Given the description of an element on the screen output the (x, y) to click on. 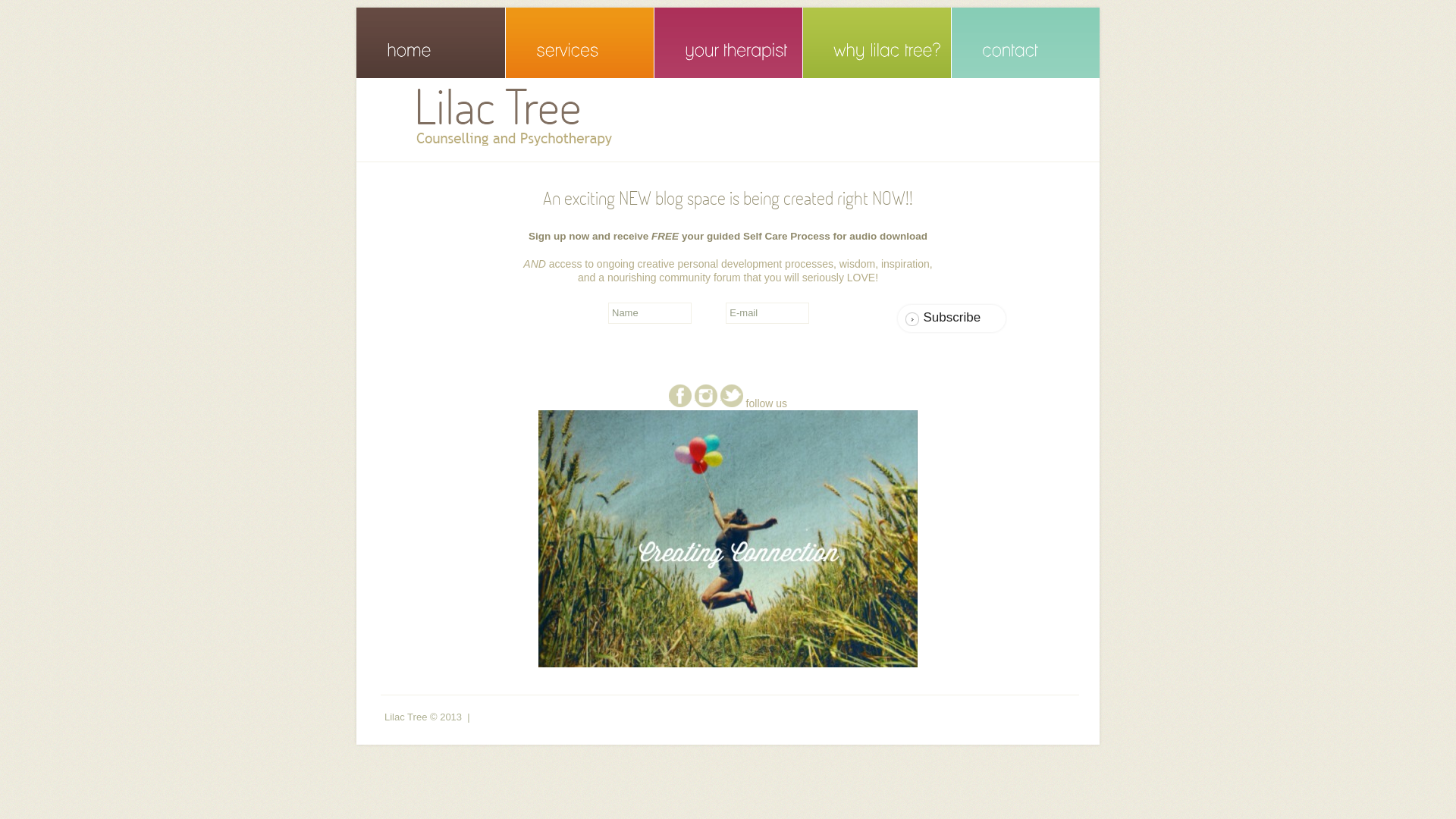
Lilac Tree Counselling Element type: hover (530, 116)
Subscribe Element type: text (951, 318)
